Given the description of an element on the screen output the (x, y) to click on. 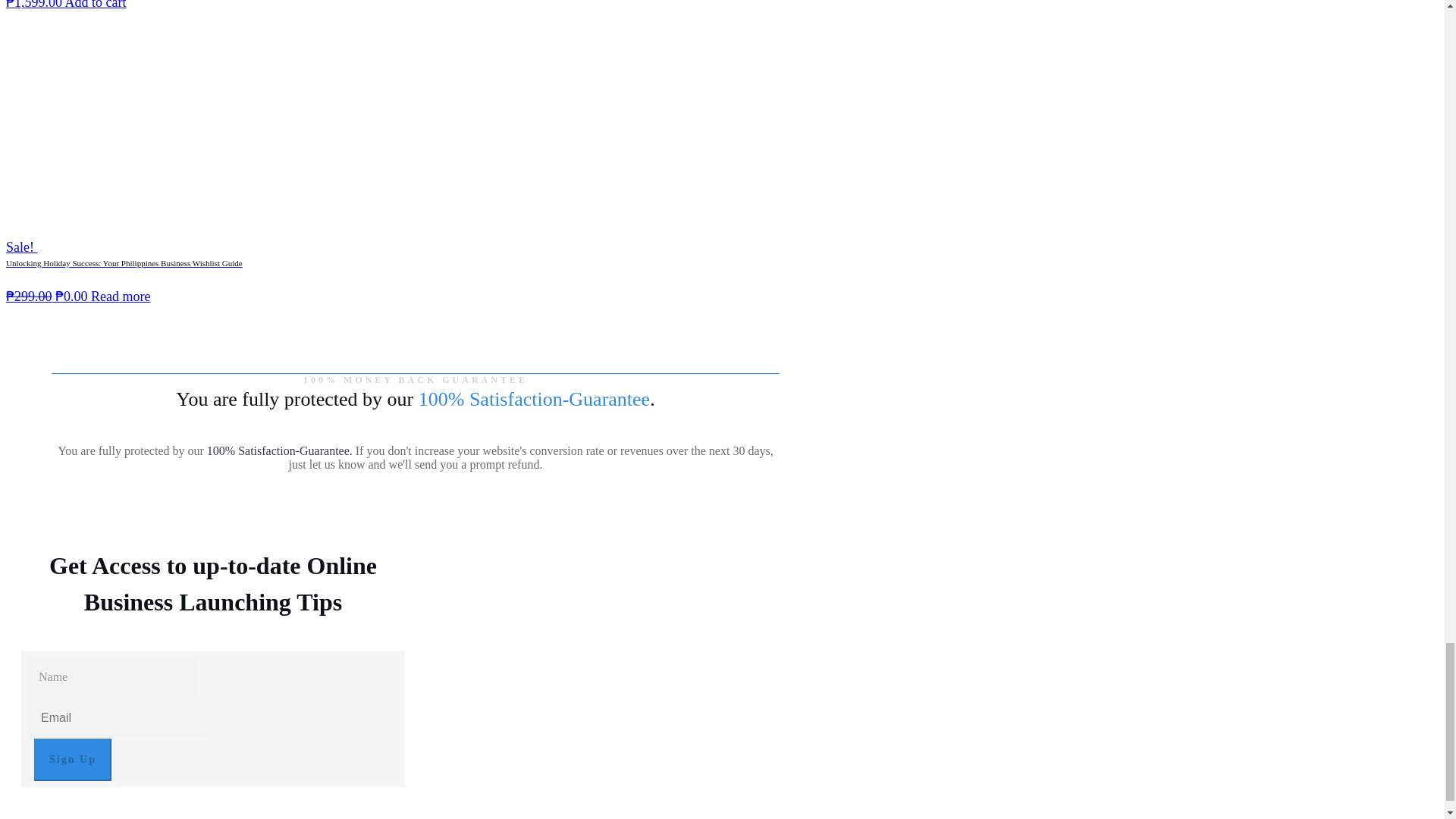
Read more (119, 296)
Add to cart (95, 4)
Sign Up (72, 759)
